Given the description of an element on the screen output the (x, y) to click on. 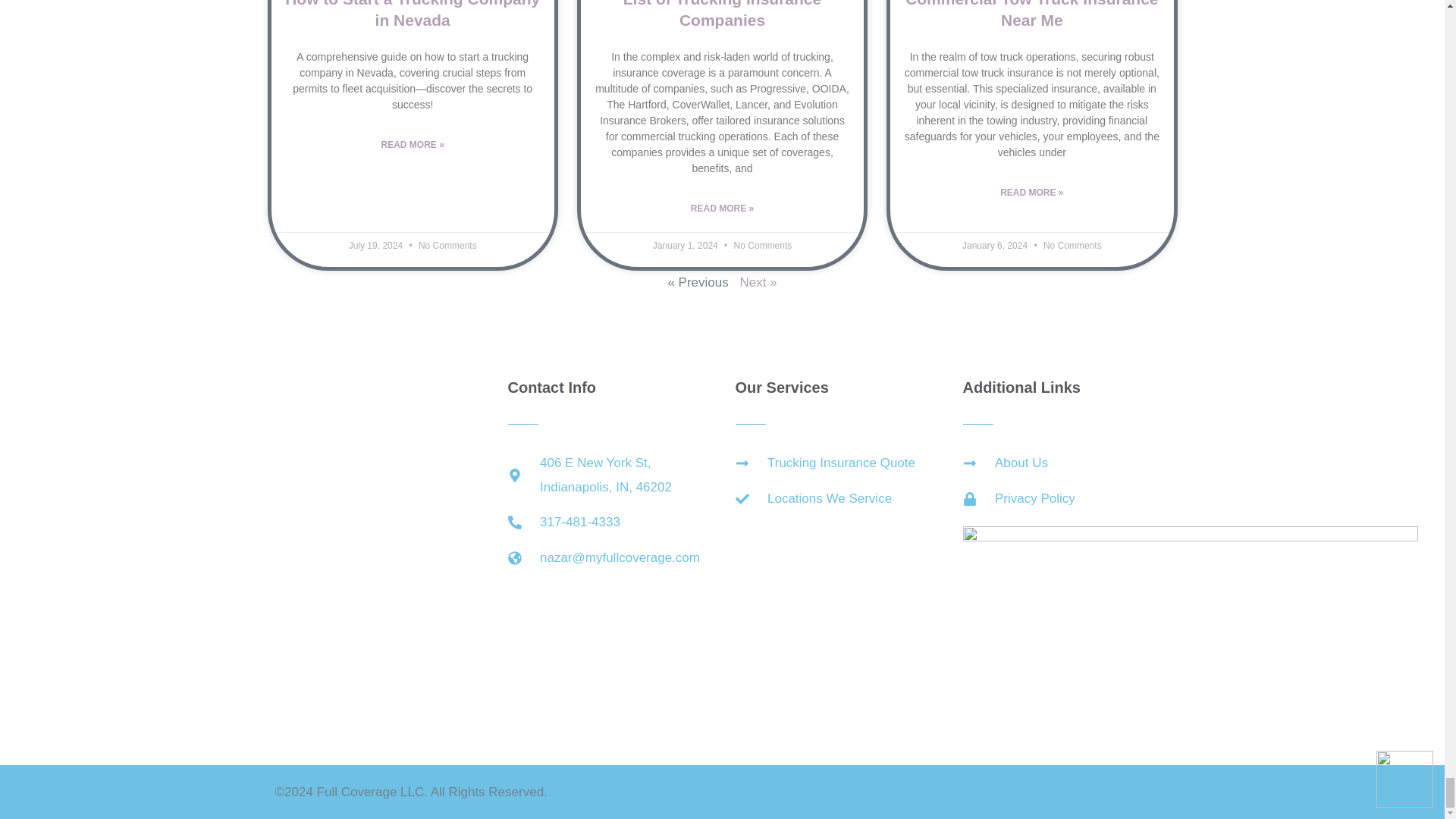
Commercial Tow Truck Insurance Near Me (1031, 13)
How to Start a Trucking Company in Nevada (412, 13)
List of Trucking Insurance Companies (722, 13)
